Given the description of an element on the screen output the (x, y) to click on. 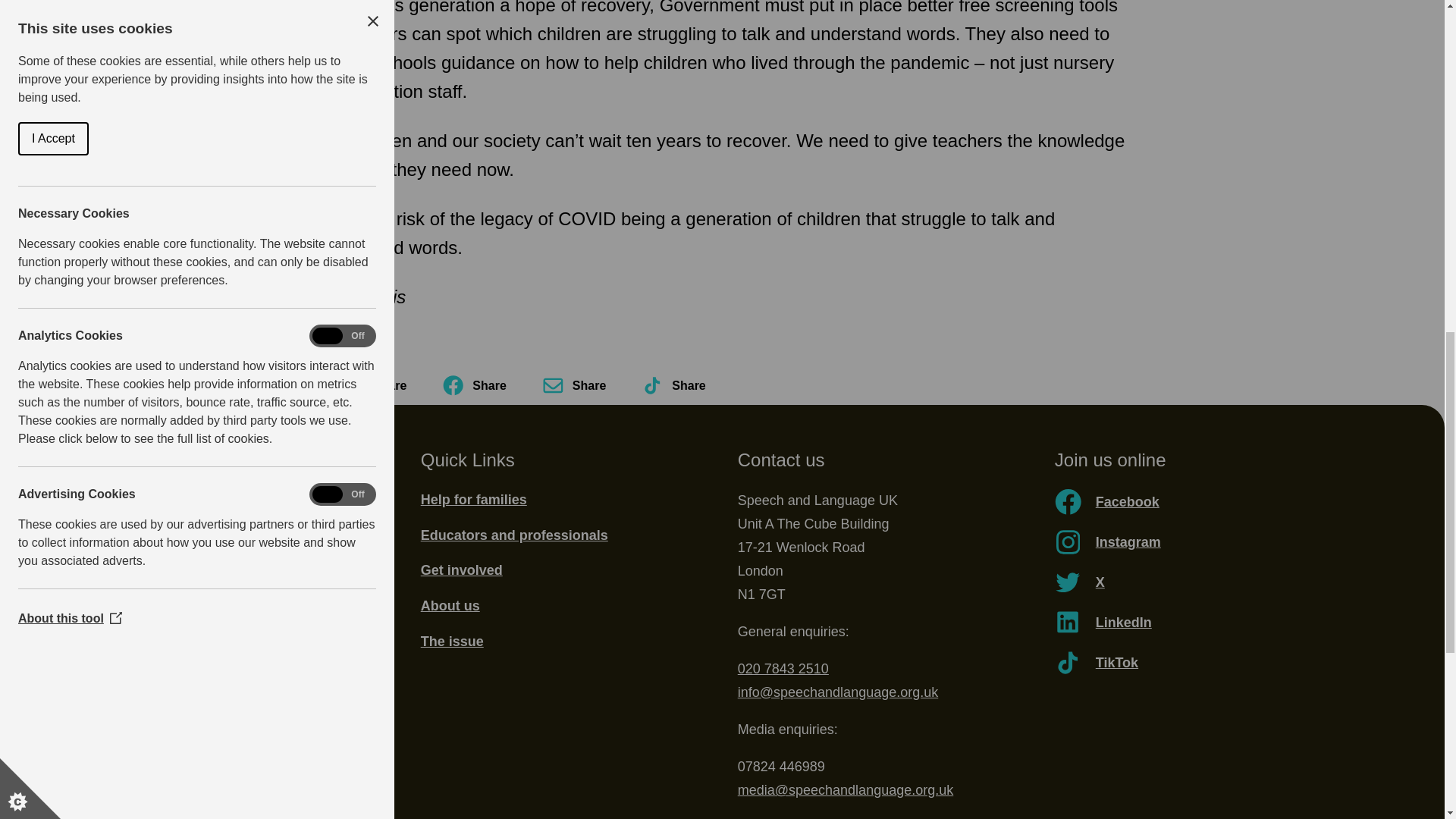
Share via TikTok (673, 385)
Share on Facebook (473, 385)
Share on LinkedIn (374, 385)
Tweet this page (275, 385)
Share via Email (574, 385)
